Given the description of an element on the screen output the (x, y) to click on. 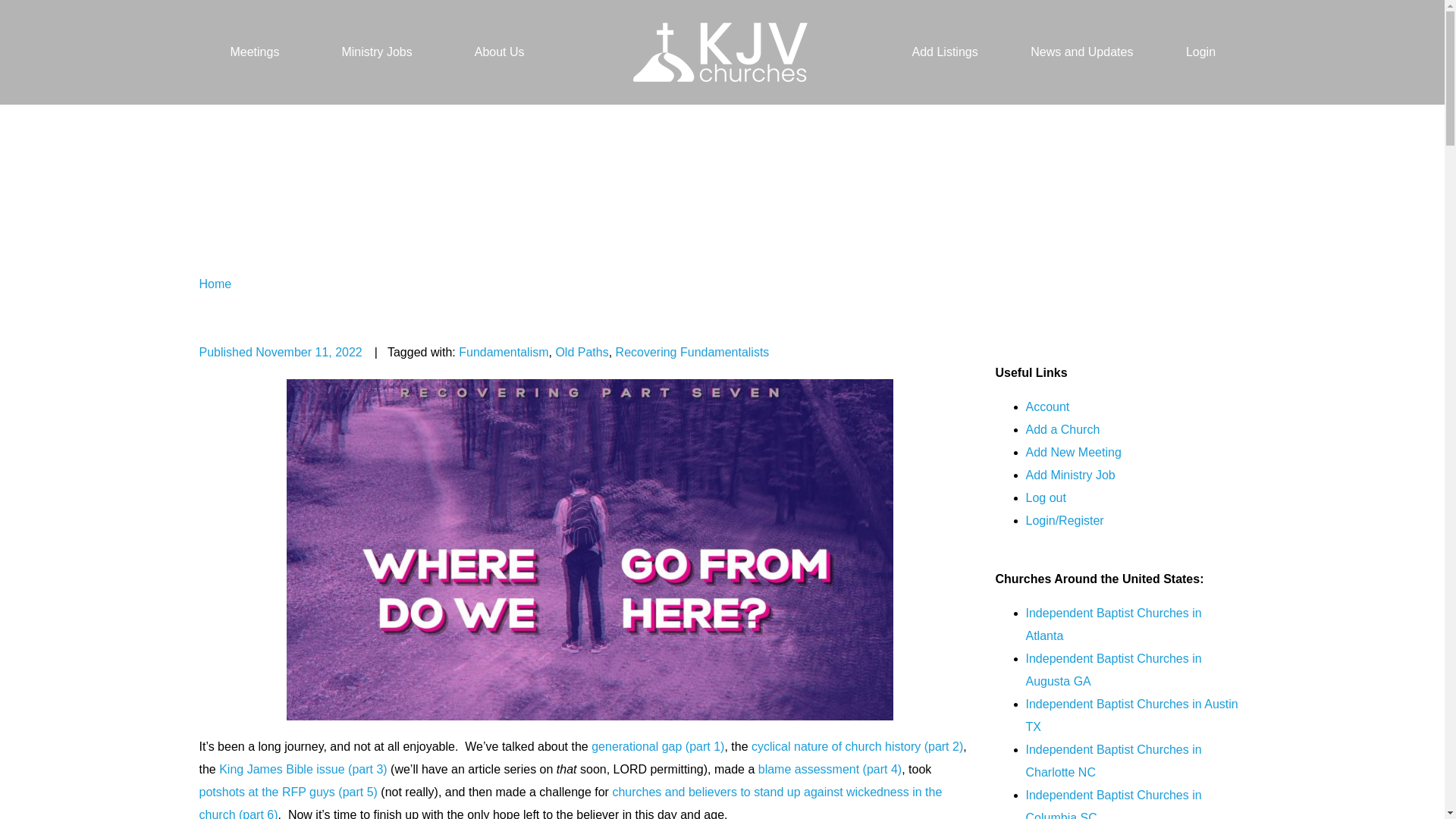
Login (1199, 52)
News and Updates (1081, 52)
Add Listings (944, 52)
Meetings (254, 52)
About Us (500, 52)
Ministry Jobs (376, 52)
